Given the description of an element on the screen output the (x, y) to click on. 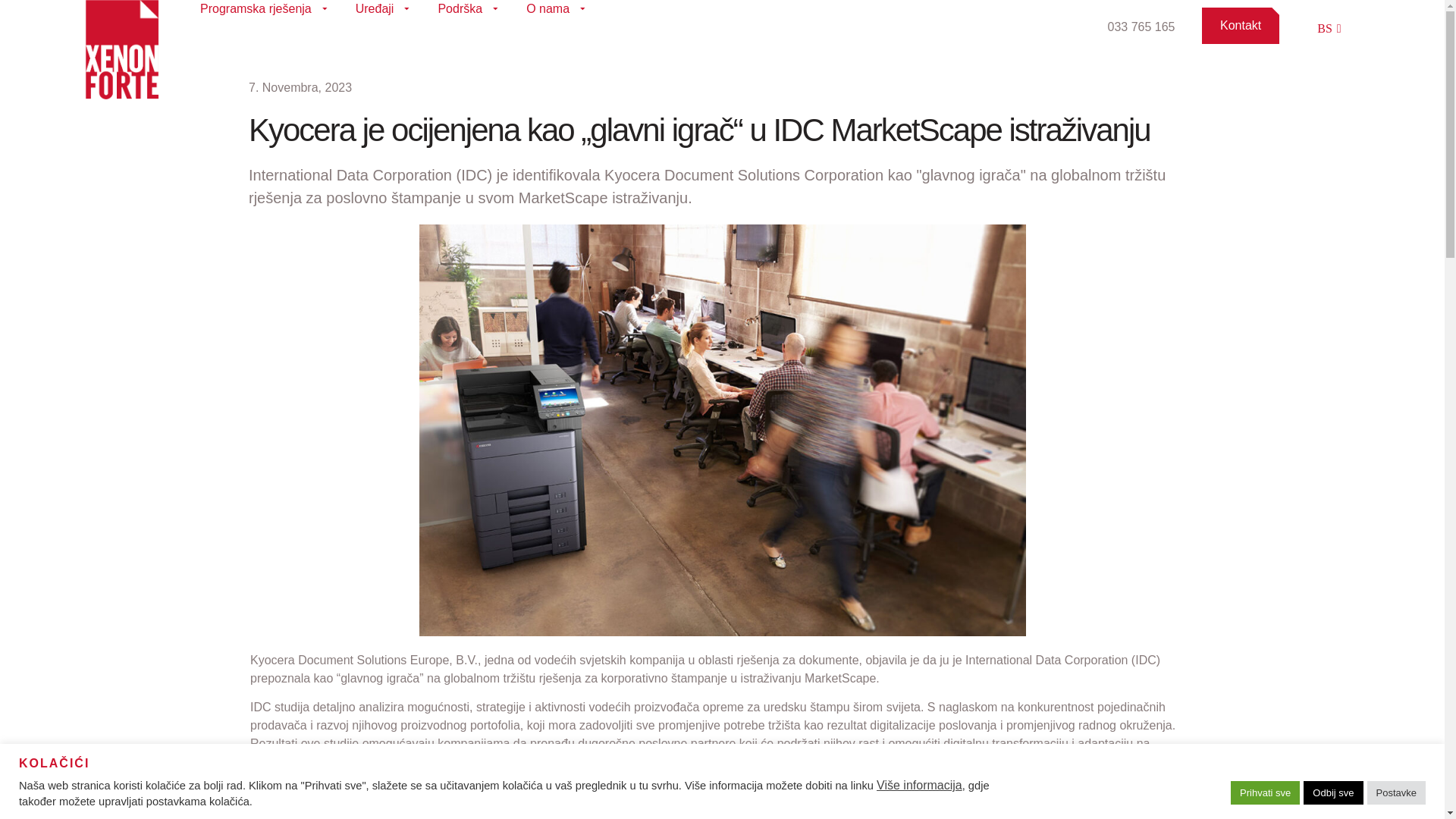
Prihvati sve Element type: text (1264, 792)
Postavke Element type: text (1396, 792)
Kontakt Element type: text (1240, 25)
033 765 165 Element type: text (1140, 26)
7. Novembra, 2023 Element type: text (299, 87)
Odbij sve Element type: text (1332, 792)
